Given the description of an element on the screen output the (x, y) to click on. 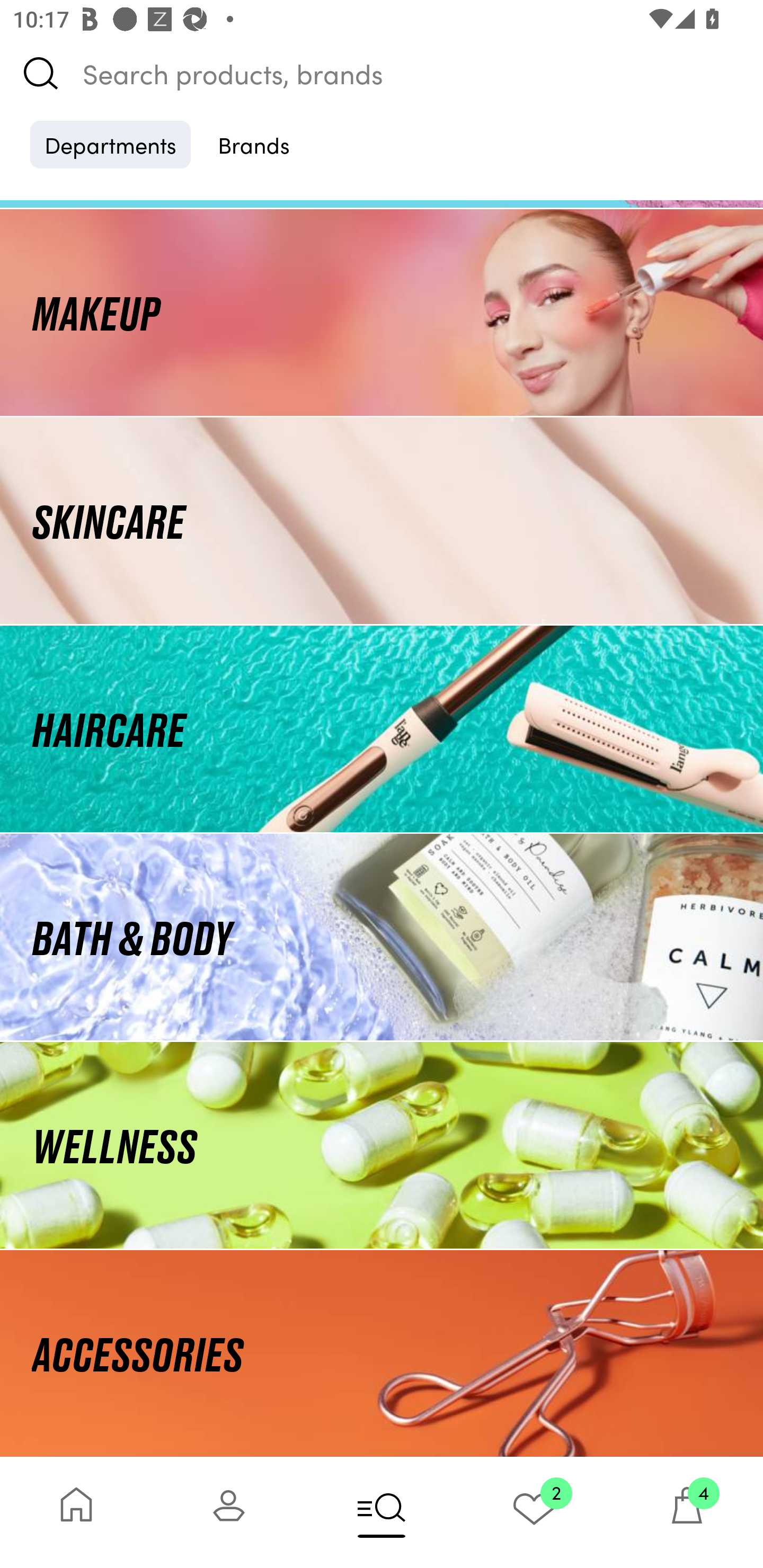
Search products, brands (381, 72)
Departments (110, 143)
Brands (253, 143)
MAKEUP (381, 311)
SKINCARE (381, 520)
HAIRCARE (381, 728)
BATH & BODY (381, 937)
WELLNESS (381, 1145)
ACCESSORIES (381, 1352)
2 (533, 1512)
4 (686, 1512)
